Given the description of an element on the screen output the (x, y) to click on. 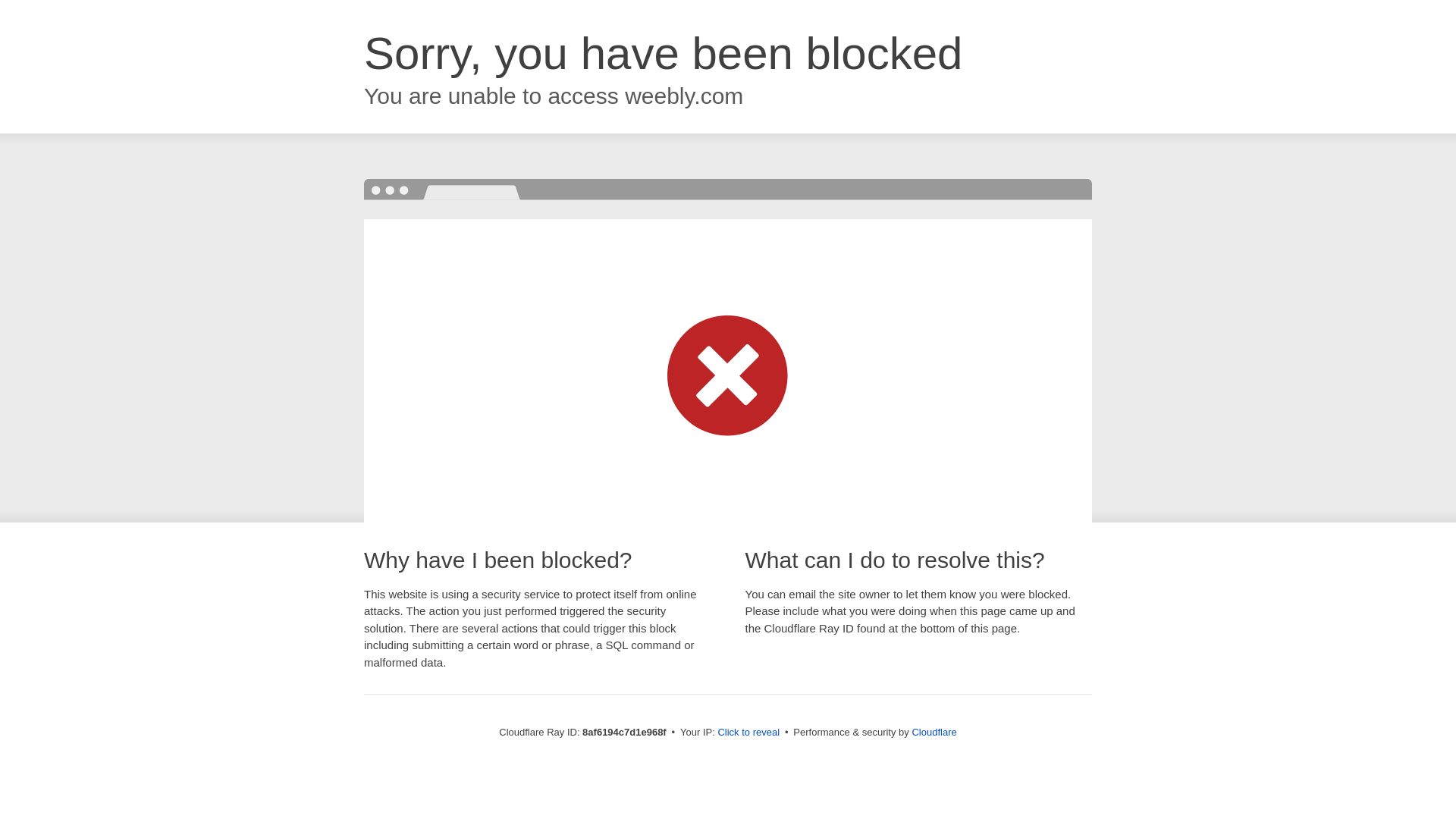
Click to reveal (747, 732)
Cloudflare (933, 731)
